Given the description of an element on the screen output the (x, y) to click on. 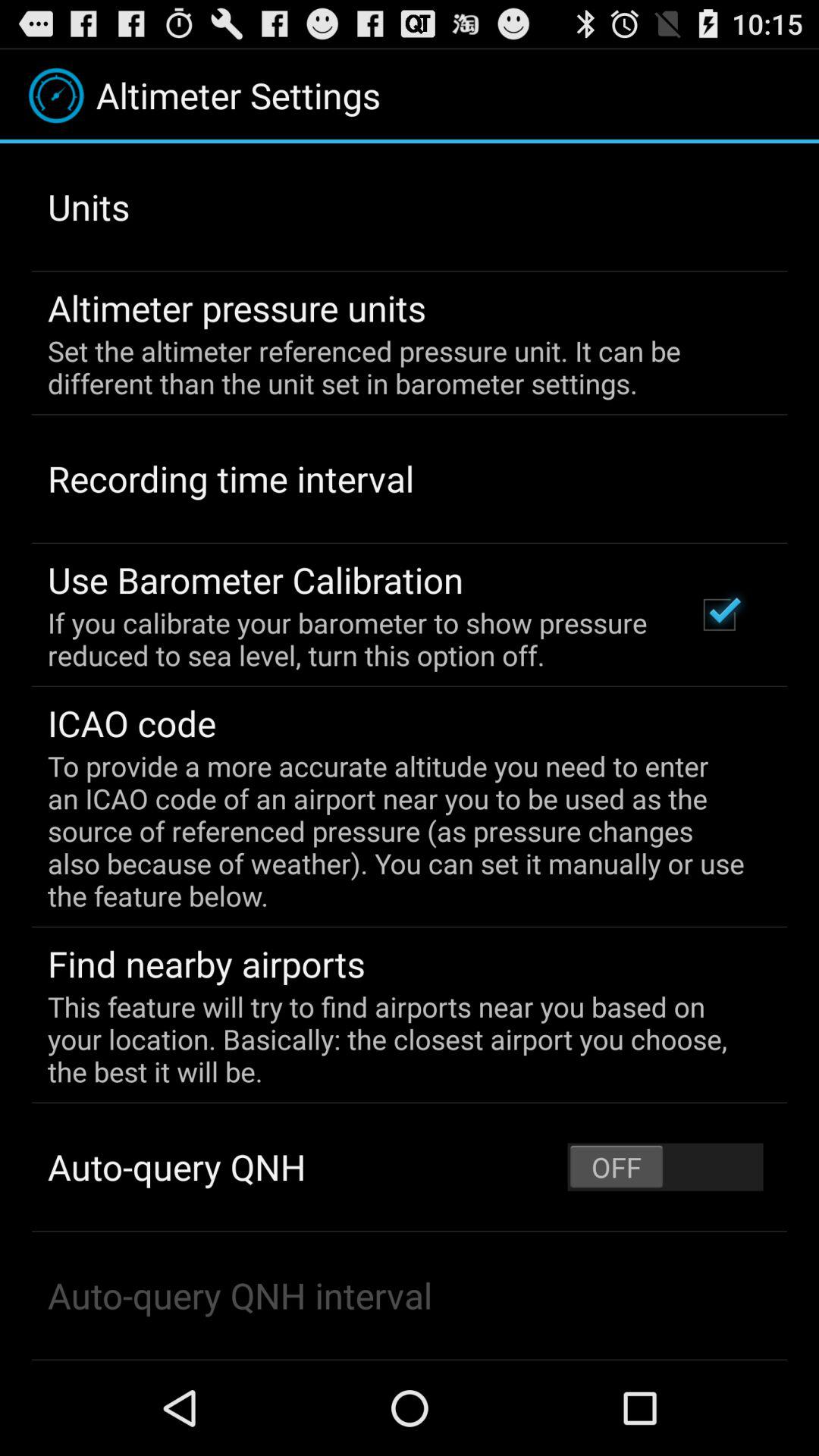
choose the item at the bottom right corner (665, 1166)
